Given the description of an element on the screen output the (x, y) to click on. 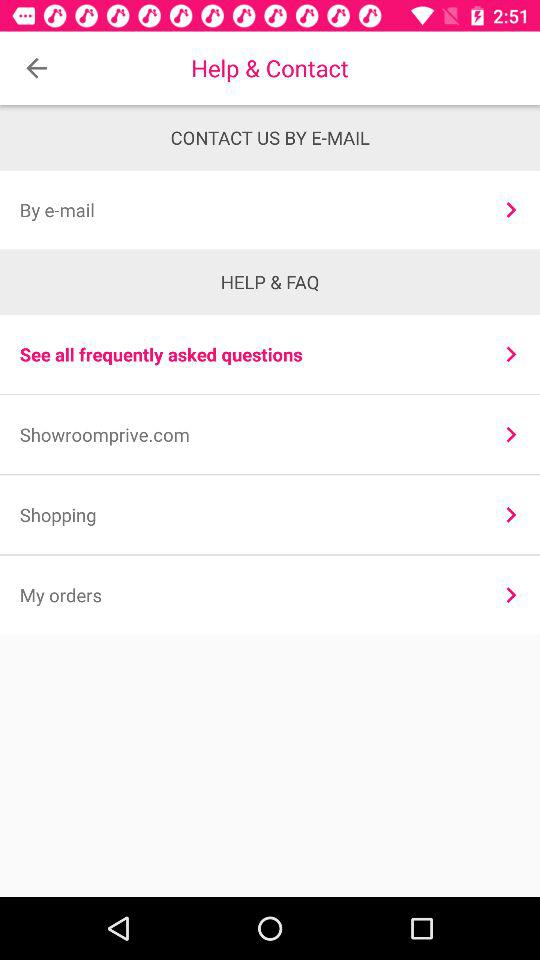
choose the item next to the my orders item (510, 594)
